Given the description of an element on the screen output the (x, y) to click on. 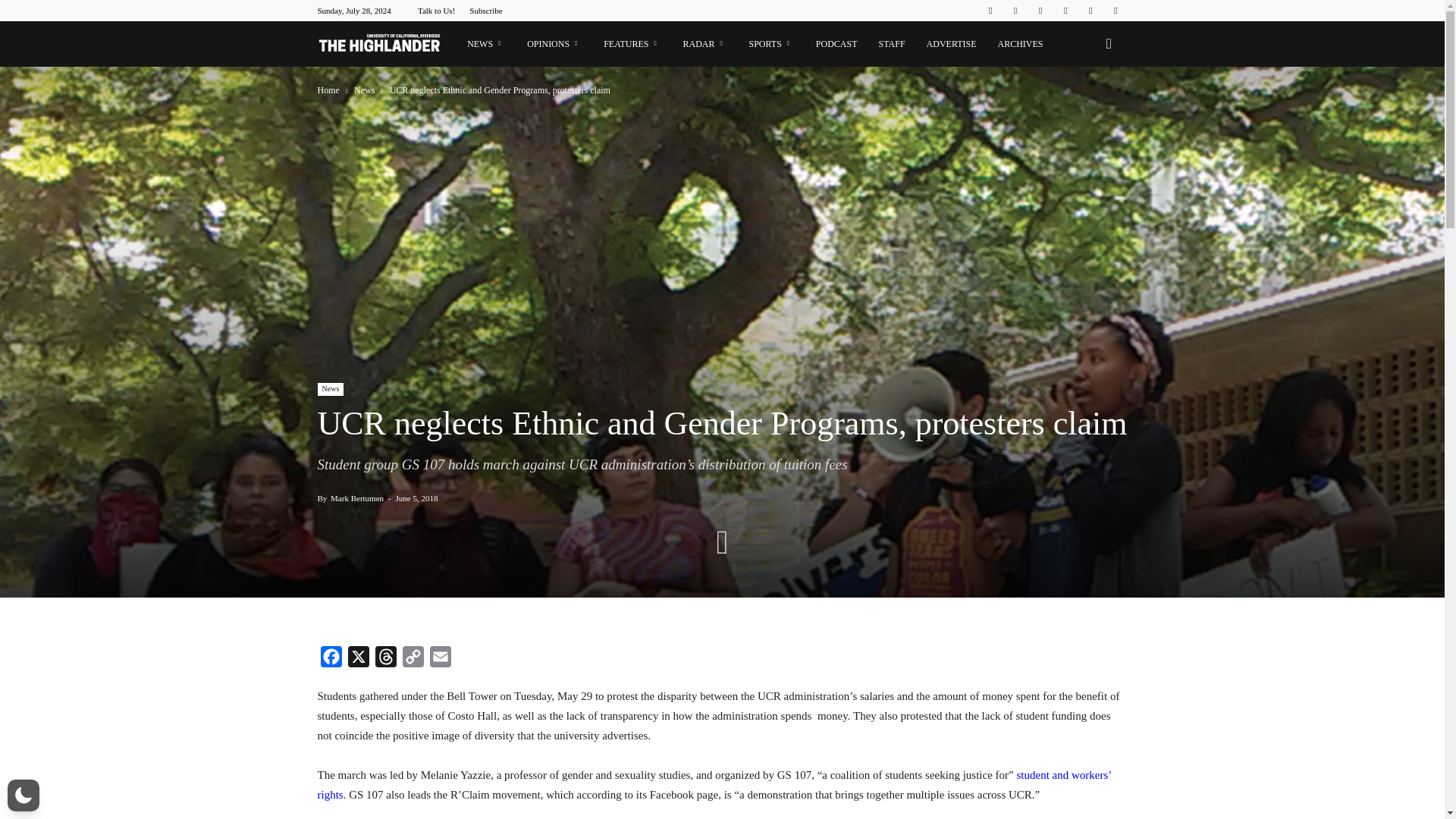
Spotify (1065, 10)
Instagram (1015, 10)
View all posts in News (365, 90)
X (357, 660)
Linkedin (1040, 10)
Youtube (1114, 10)
Talk to Us! (435, 10)
Threads (384, 660)
Facebook (989, 10)
Facebook (330, 660)
Twitter (1090, 10)
